Given the description of an element on the screen output the (x, y) to click on. 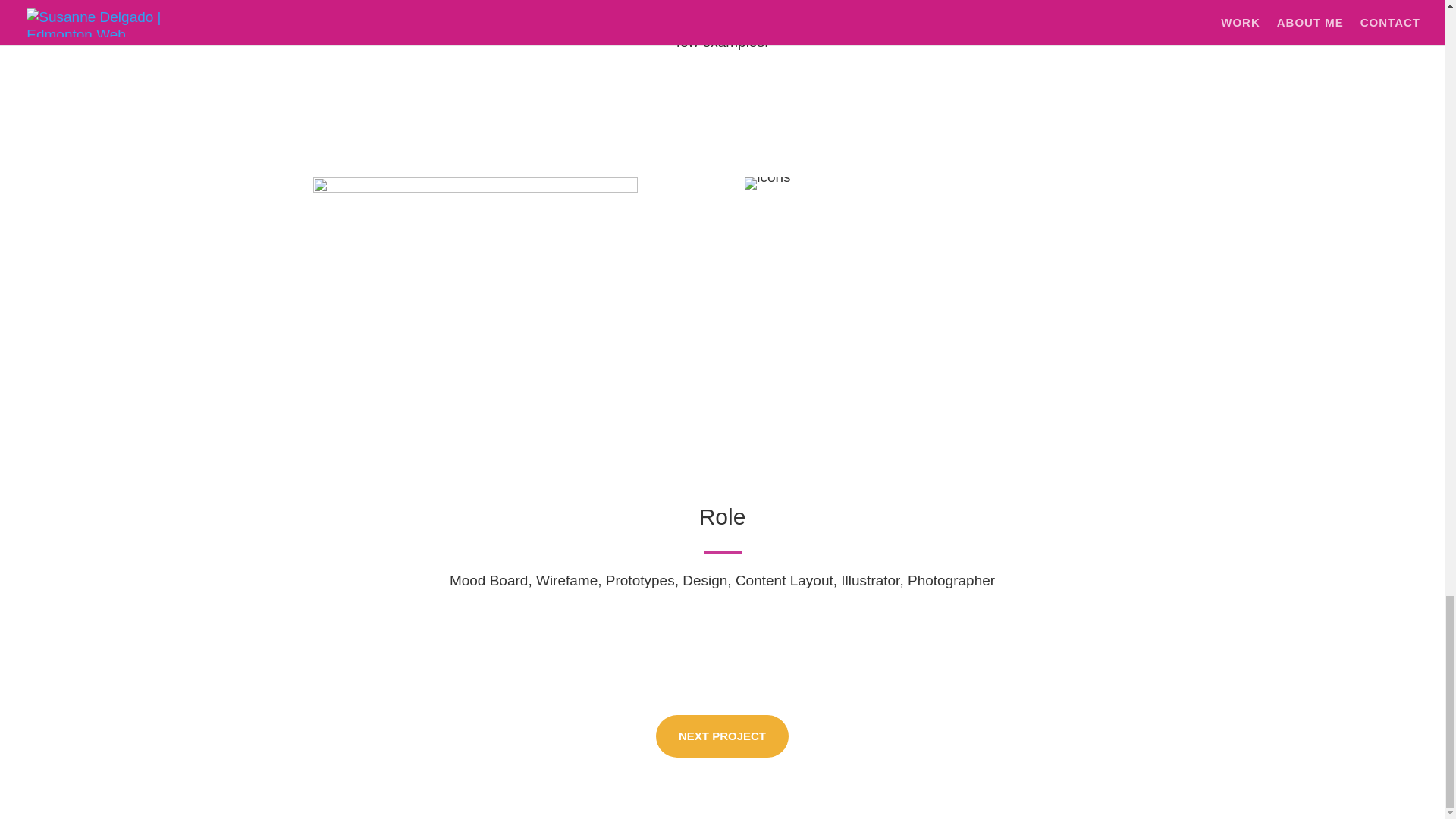
icons-test (475, 280)
NEXT PROJECT (722, 735)
icons2 (767, 183)
